Given the description of an element on the screen output the (x, y) to click on. 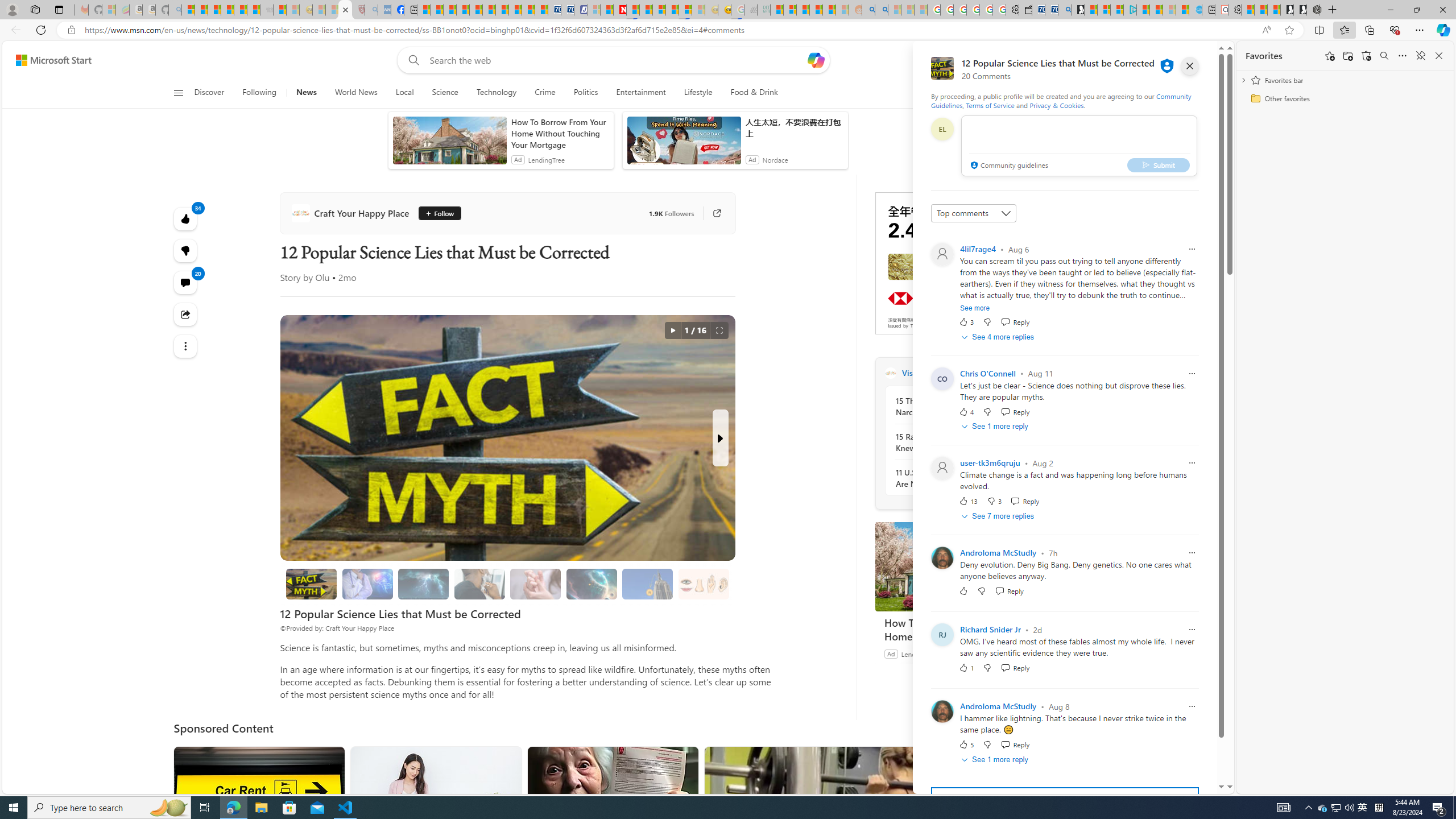
Knuckle Cracking and Arthritis (535, 583)
Lightning Myths (423, 583)
11 U.S. Cities Where Home Prices Are Not Worth the Cost (957, 477)
See 4 more replies (998, 336)
